Given the description of an element on the screen output the (x, y) to click on. 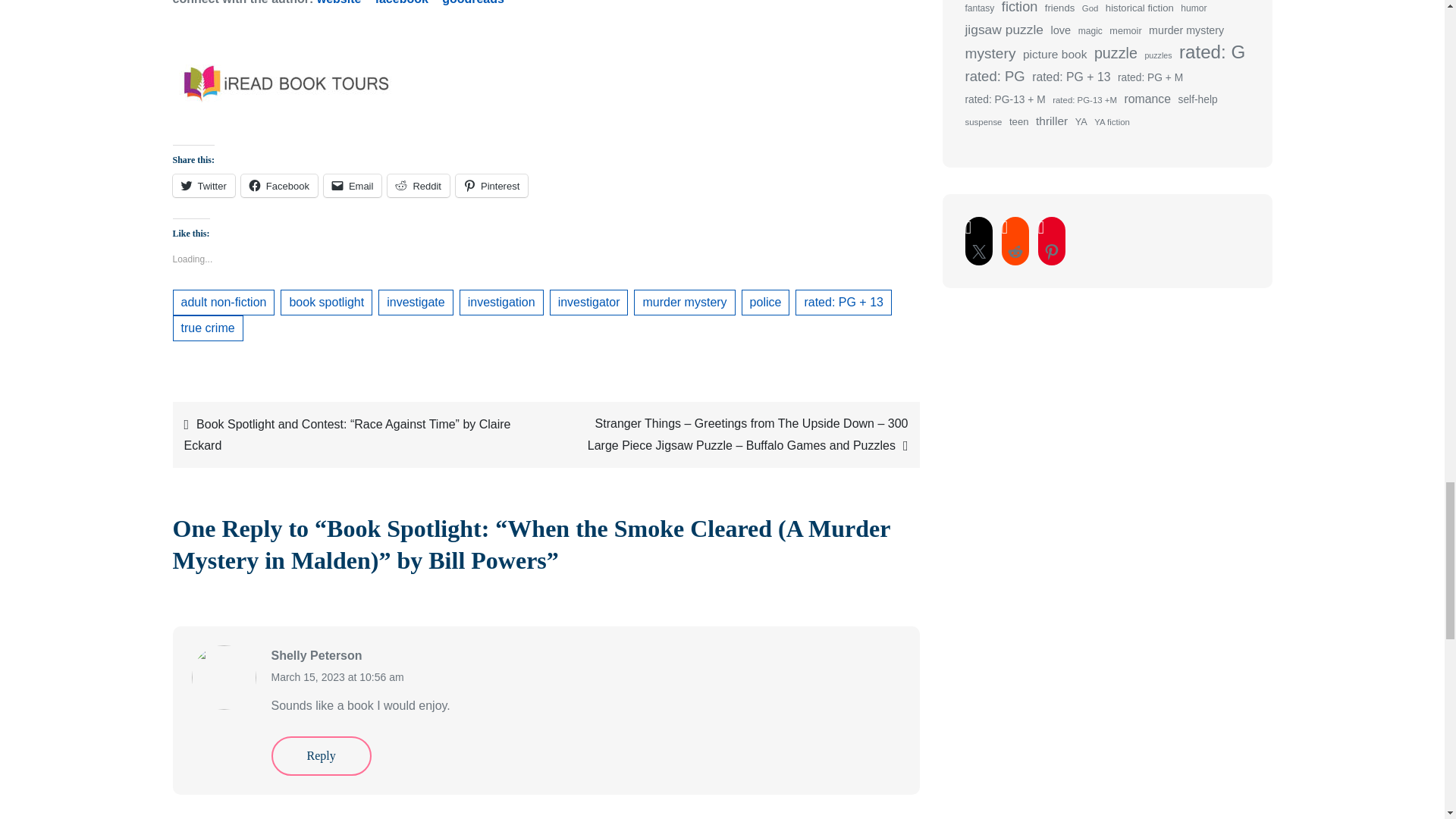
Click to share on Twitter (203, 185)
Reddit (418, 185)
Reply (320, 755)
true crime (208, 328)
investigate (415, 302)
police (765, 302)
Facebook (279, 185)
March 15, 2023 at 10:56 am (337, 676)
Pinterest (491, 185)
Click to email a link to a friend (352, 185)
